Given the description of an element on the screen output the (x, y) to click on. 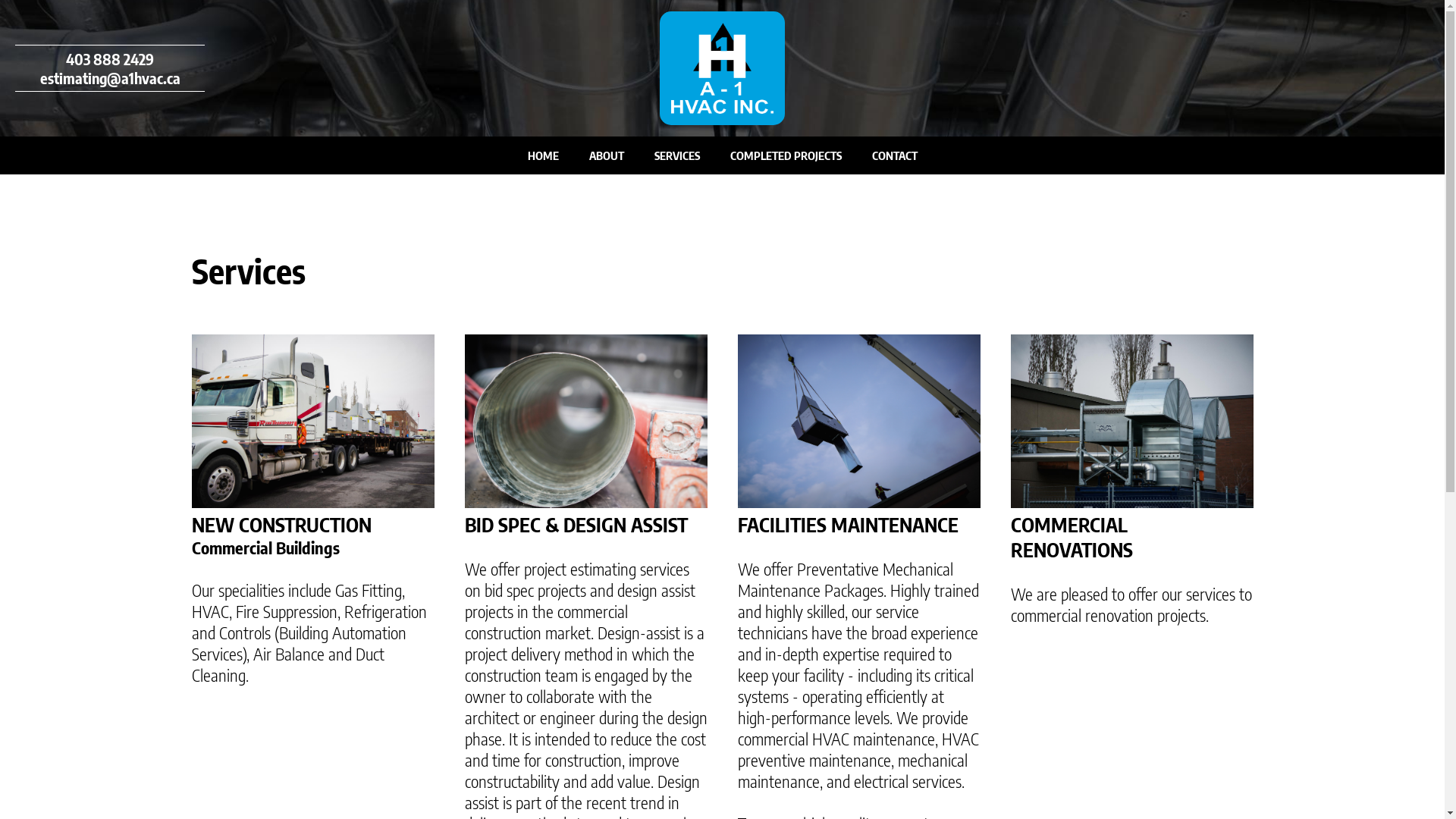
ABOUT Element type: text (605, 155)
SERVICES Element type: text (676, 155)
HOME Element type: text (542, 155)
COMPLETED PROJECTS Element type: text (784, 155)
CONTACT Element type: text (894, 155)
